Given the description of an element on the screen output the (x, y) to click on. 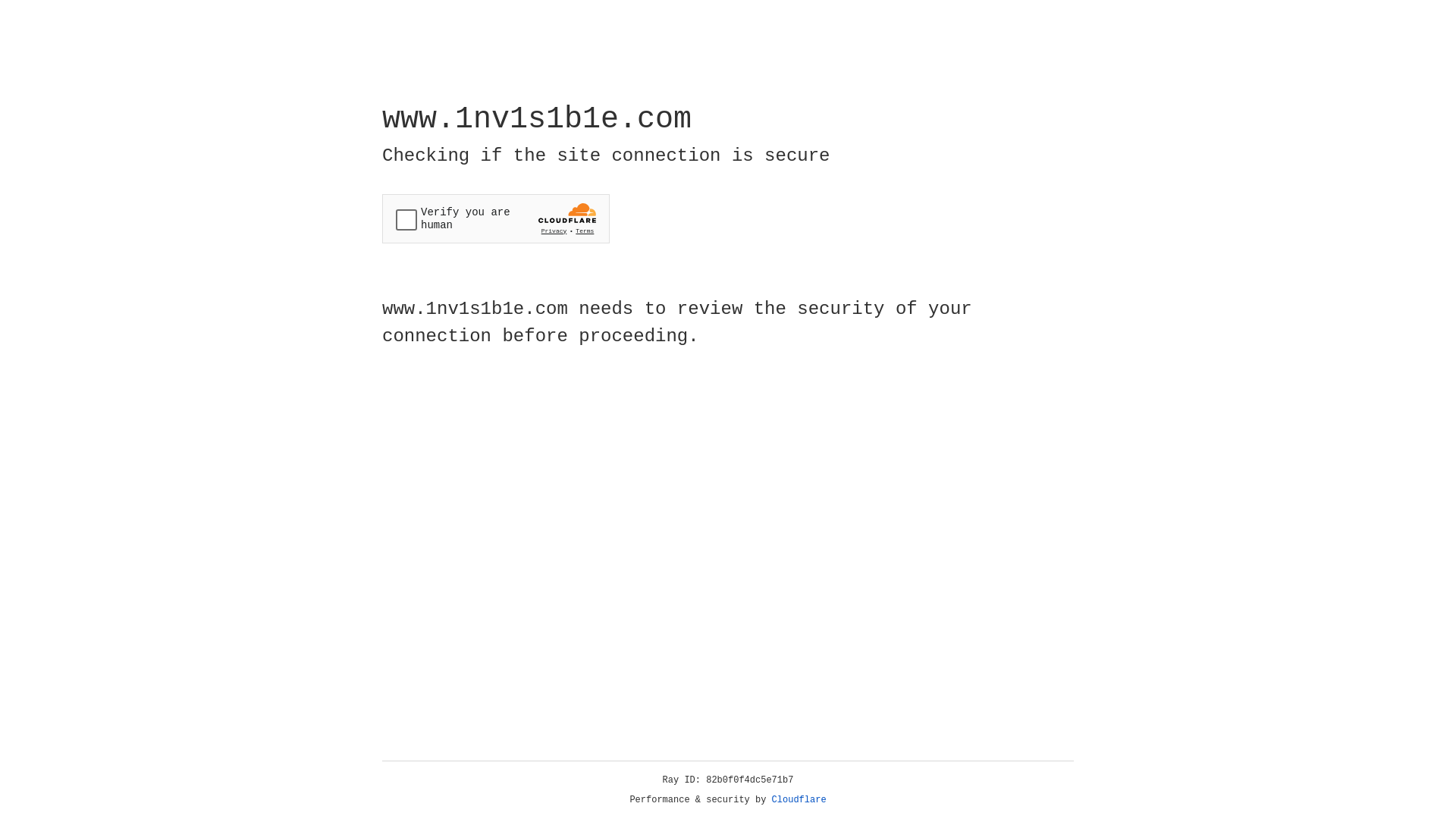
Cloudflare Element type: text (798, 799)
Widget containing a Cloudflare security challenge Element type: hover (495, 218)
